Given the description of an element on the screen output the (x, y) to click on. 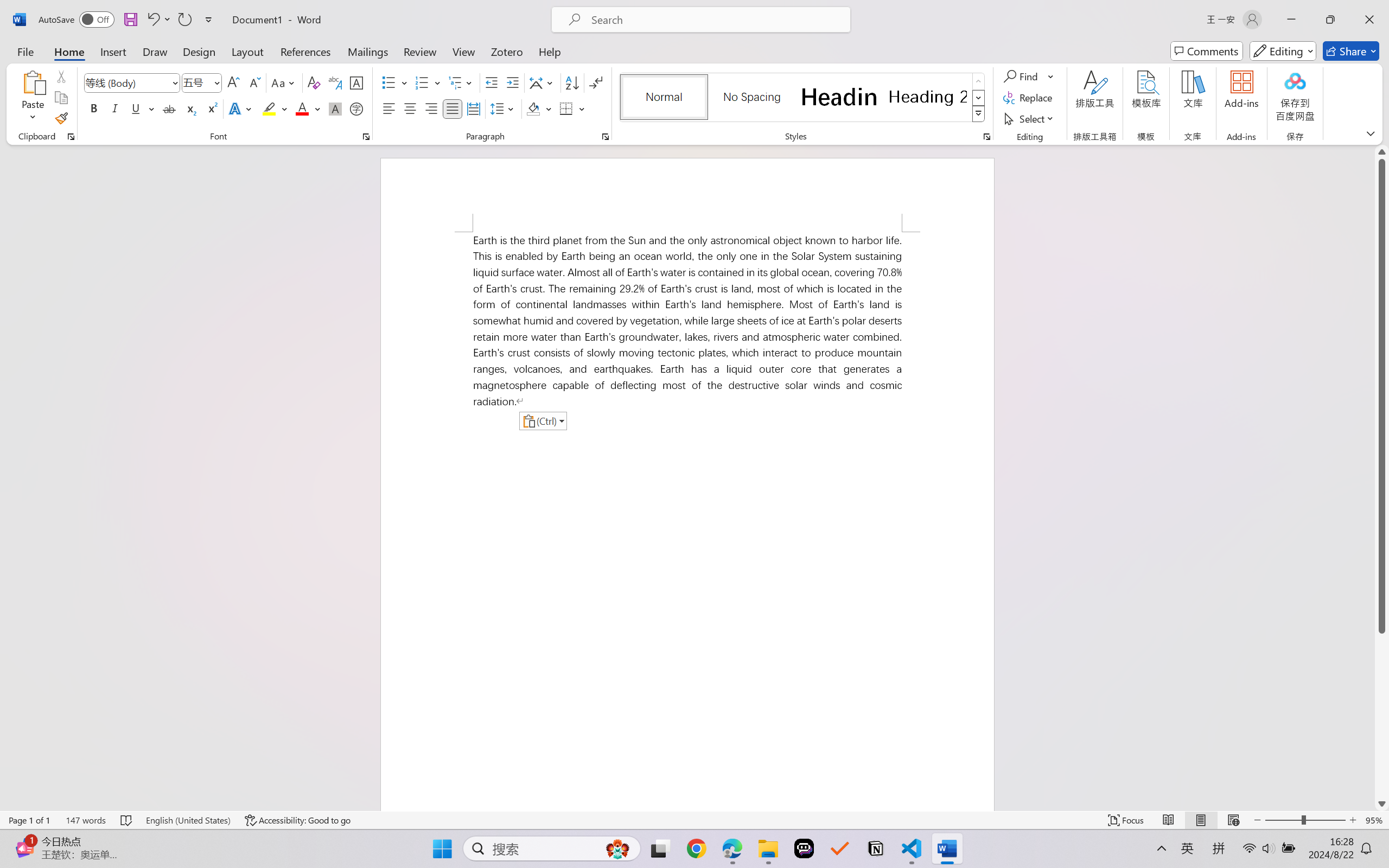
Line and Paragraph Spacing (503, 108)
Replace... (1029, 97)
Row up (978, 81)
Class: MsoCommandBar (694, 819)
Styles (978, 113)
Increase Indent (512, 82)
